Given the description of an element on the screen output the (x, y) to click on. 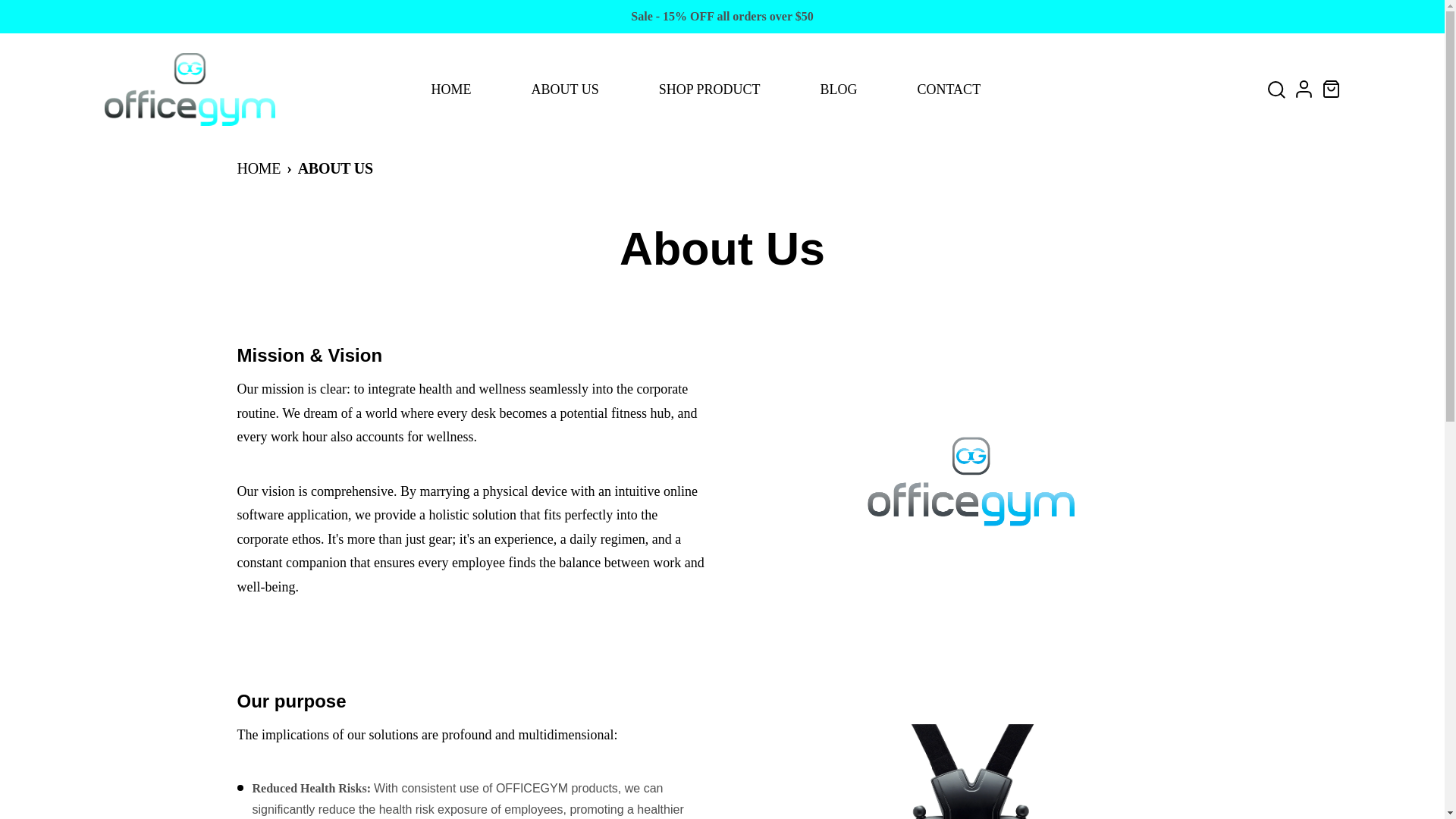
CONTACT (949, 89)
Account (1304, 89)
ABOUT US (564, 89)
SHOP PRODUCT (709, 89)
Cart (1331, 89)
Back to the homepage (258, 167)
HOME (258, 167)
Search (1276, 89)
